Given the description of an element on the screen output the (x, y) to click on. 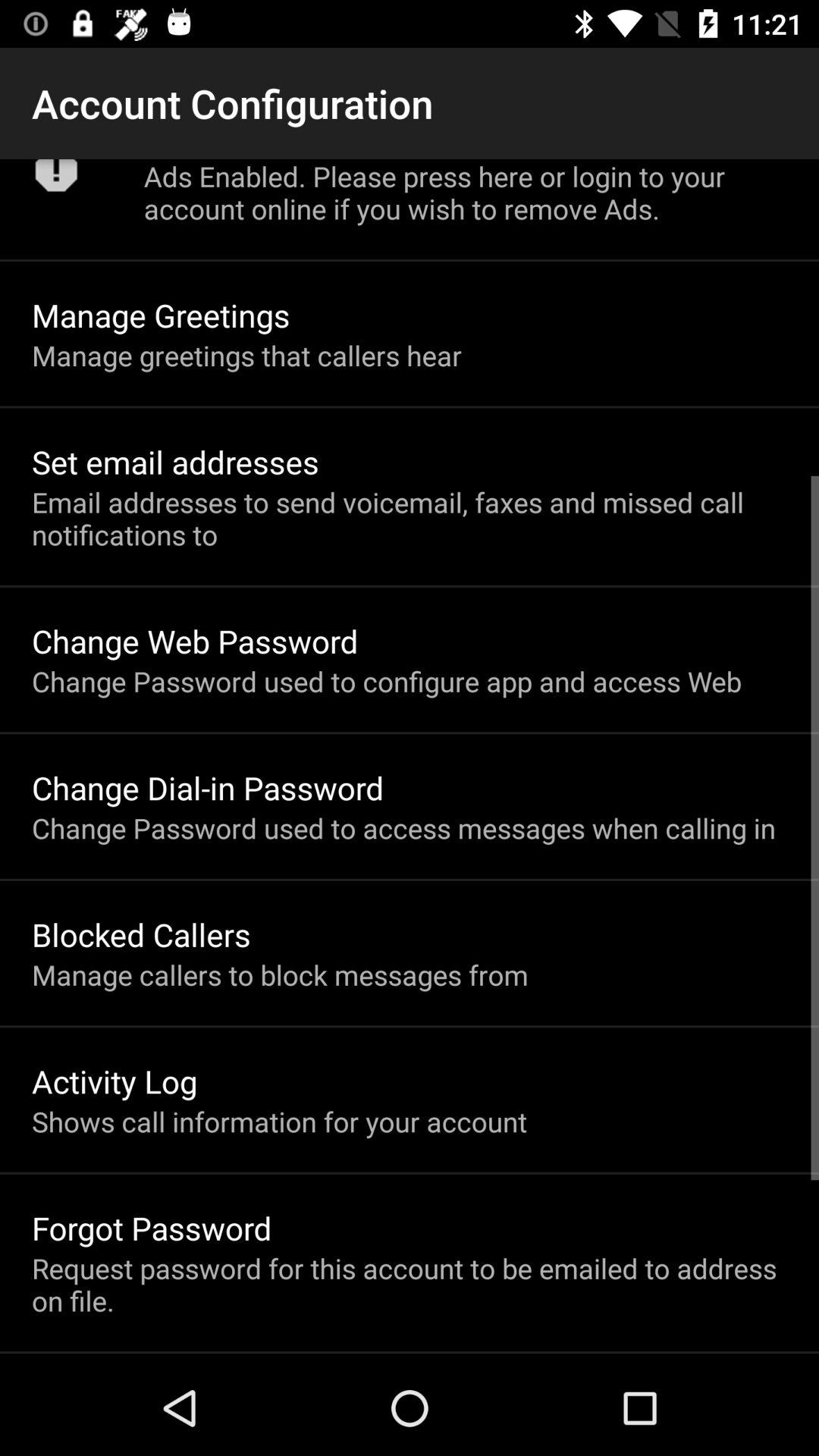
swipe to activity log icon (114, 1080)
